Given the description of an element on the screen output the (x, y) to click on. 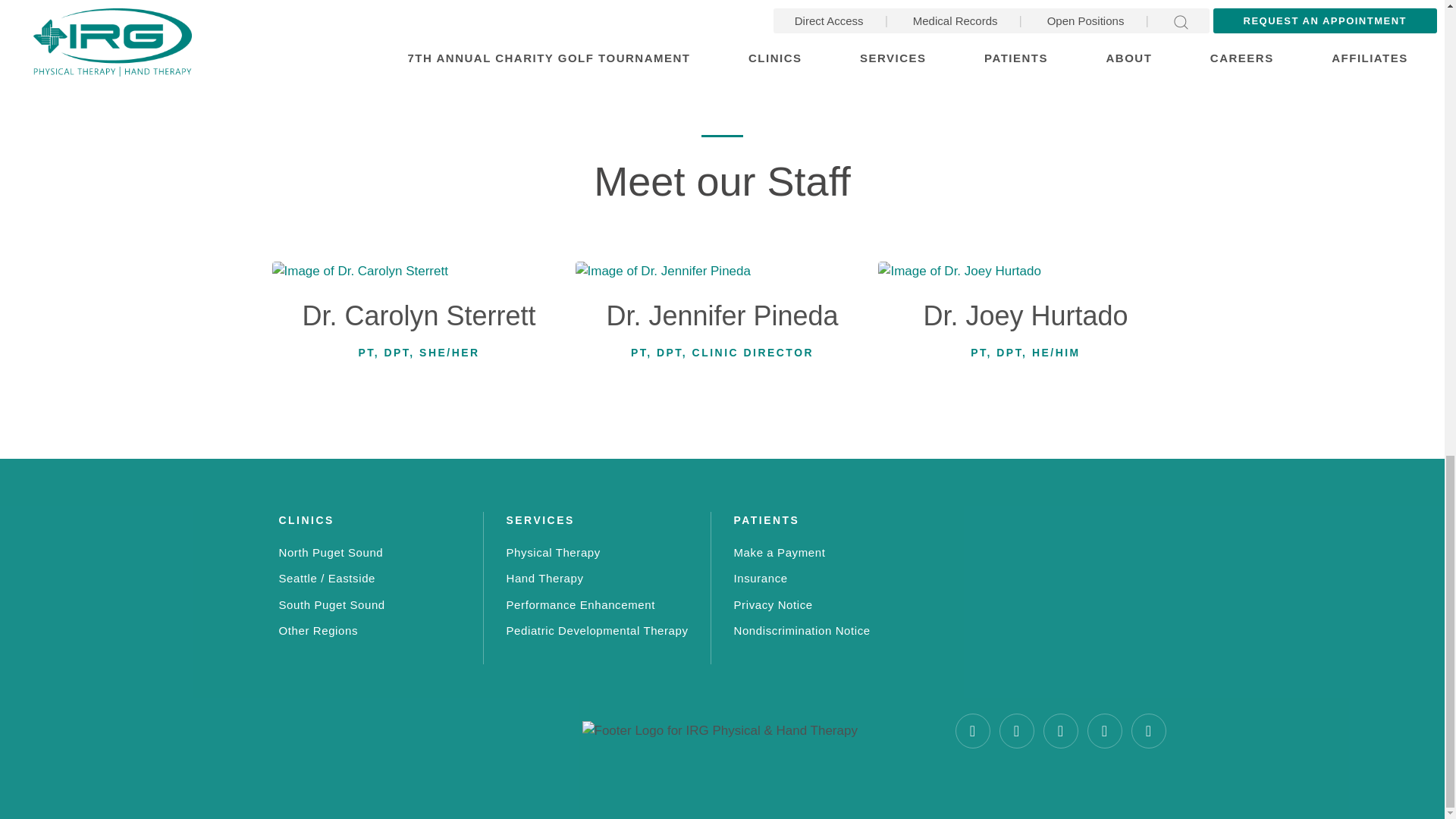
Dr. Joey Hurtado (1024, 320)
Spotify (1148, 730)
Dr. Carolyn Sterrett (419, 320)
Dr. Jennifer Pineda (722, 320)
LinkedIn (1104, 730)
Facebook (972, 730)
Instagram (1015, 730)
YouTube (1060, 730)
